Given the description of an element on the screen output the (x, y) to click on. 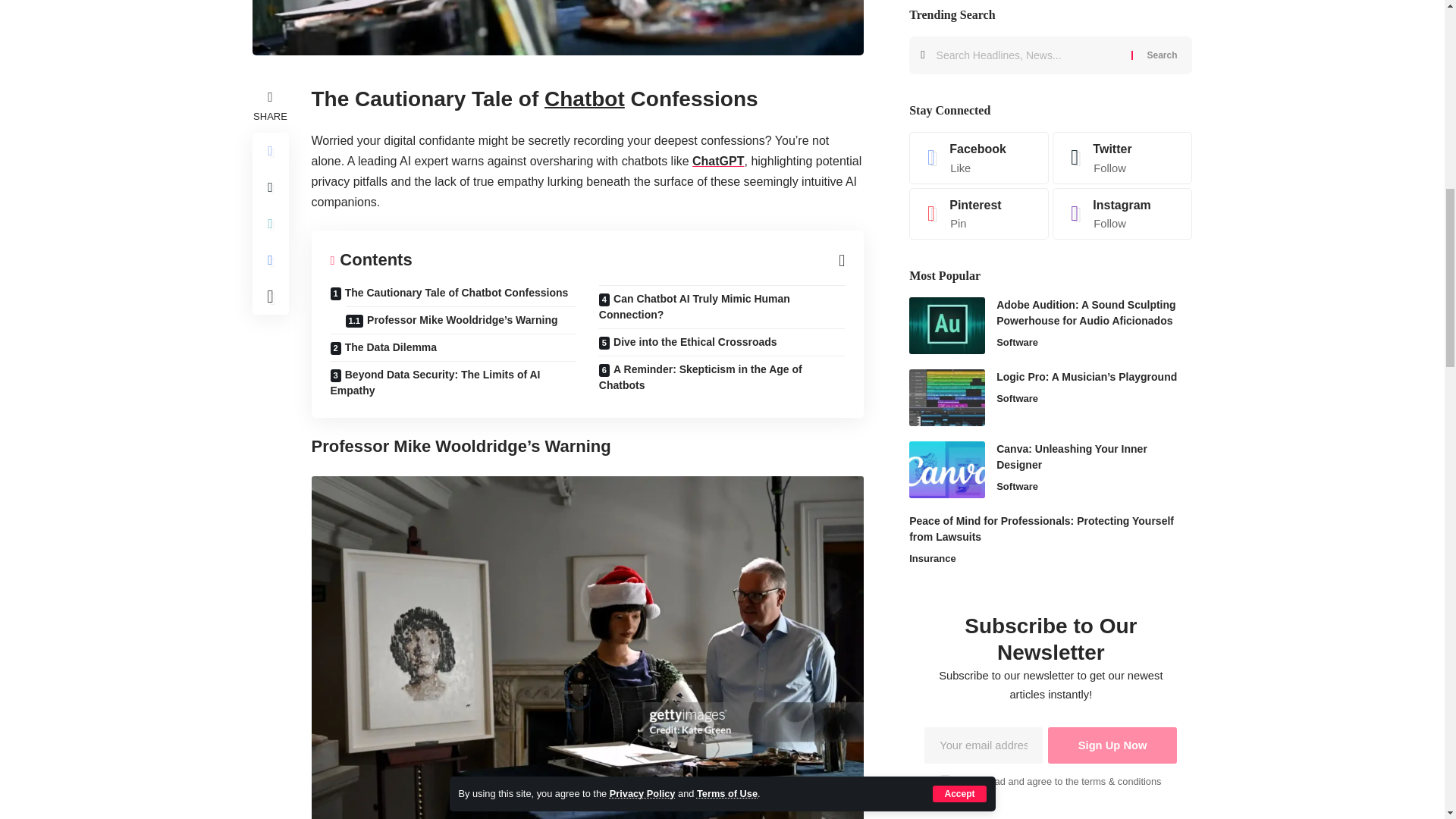
Sign Up Now (1112, 57)
1 (945, 91)
